Given the description of an element on the screen output the (x, y) to click on. 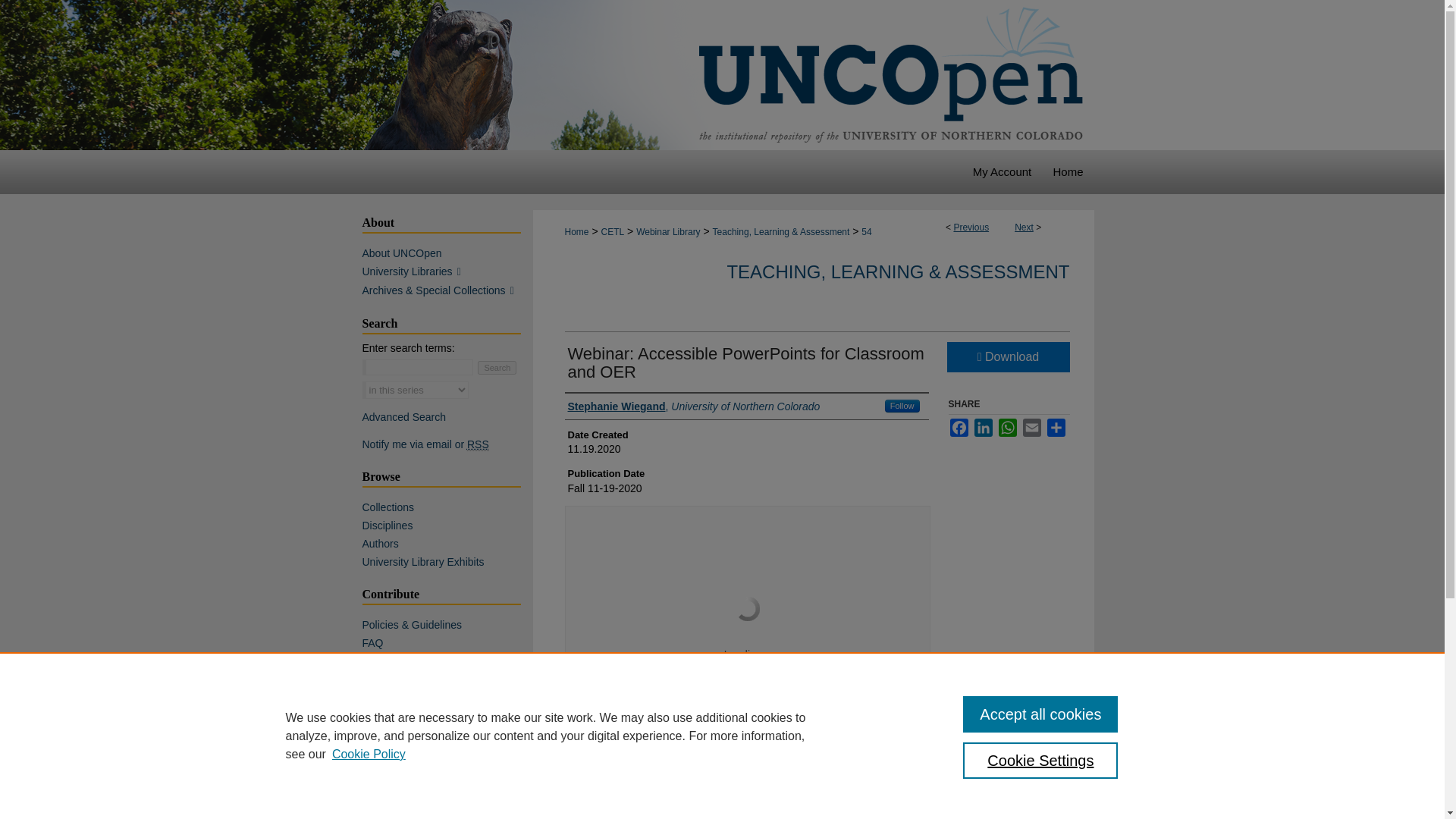
University Libraries (447, 271)
Browse by Author (447, 543)
CETL (611, 231)
Home (1067, 171)
Follow (902, 405)
54 (865, 231)
Really Simple Syndication (478, 444)
Previous (970, 226)
Browse by Disciplines (447, 525)
Share (1055, 427)
About UNCOpen (447, 253)
Home (1067, 171)
Search (496, 367)
Authors (447, 543)
Facebook (958, 427)
